Given the description of an element on the screen output the (x, y) to click on. 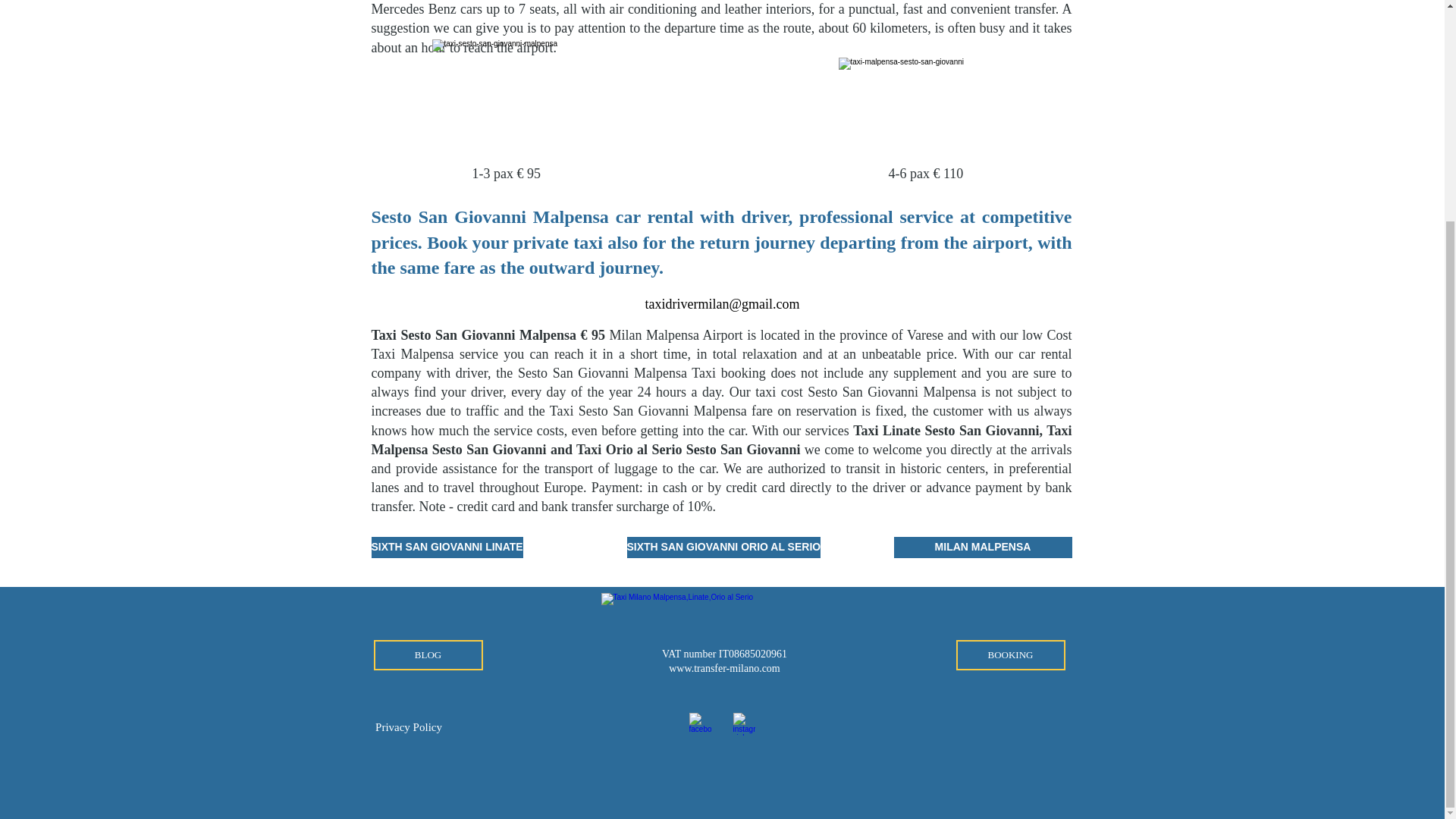
BLOG (426, 654)
BOOKING (1009, 654)
Mercedes classe E  (515, 94)
www.transfer-milano.com (724, 668)
SIXTH SAN GIOVANNI LINATE (446, 547)
Mercedes classe V  (934, 112)
Privacy Policy (408, 727)
Transfer Milano - noleggio auto con conducente Milano (721, 622)
MILAN MALPENSA (982, 547)
